Given the description of an element on the screen output the (x, y) to click on. 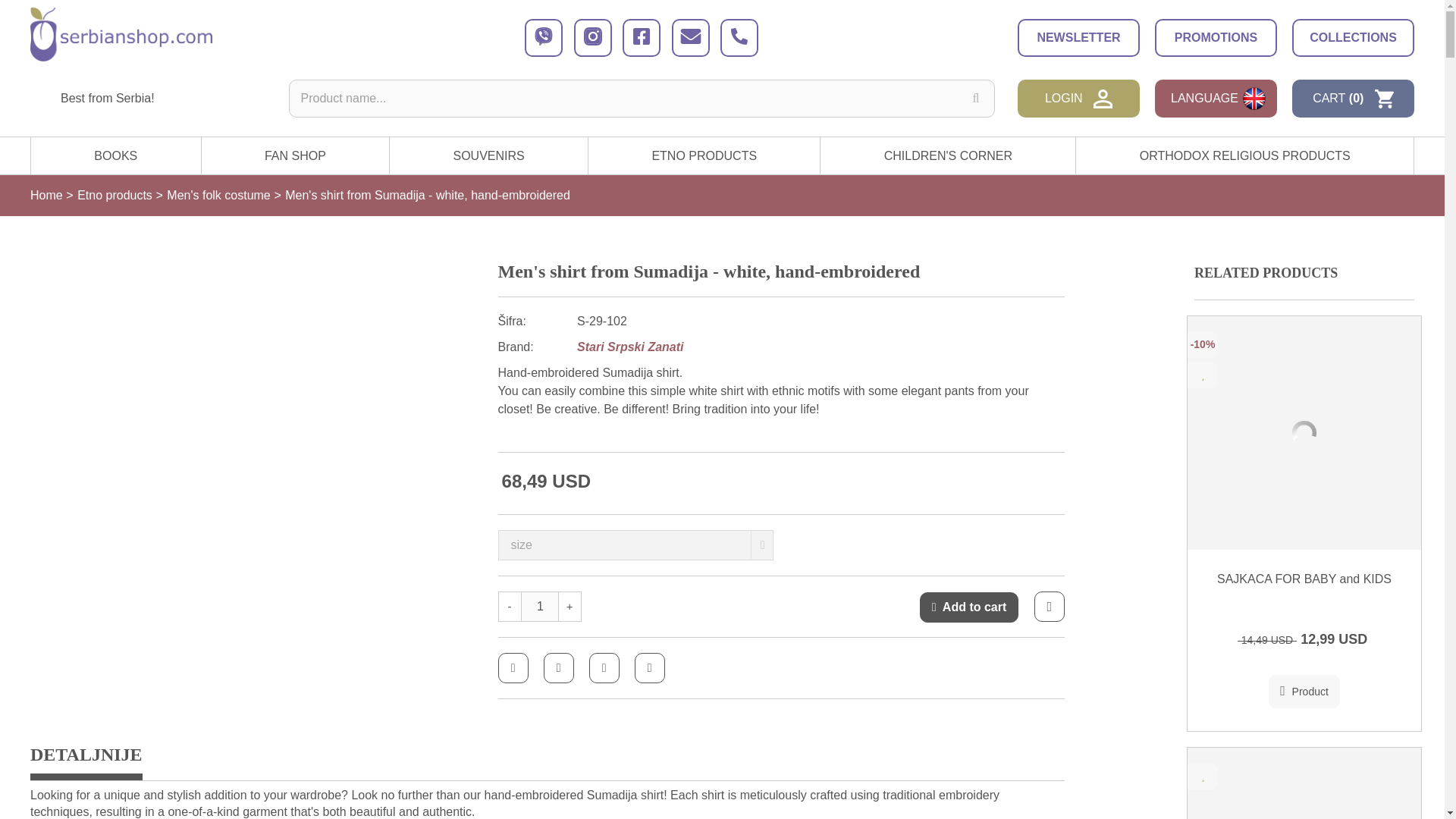
1 (540, 606)
COLLECTIONS (1352, 37)
LANGUAGE (1215, 98)
Tweet (558, 667)
BOOKS (115, 156)
serbian shop logo (121, 34)
LOGIN (1078, 98)
Share on Facebook (512, 667)
NEWSLETTER (1078, 37)
PROMOTIONS (1215, 37)
